Given the description of an element on the screen output the (x, y) to click on. 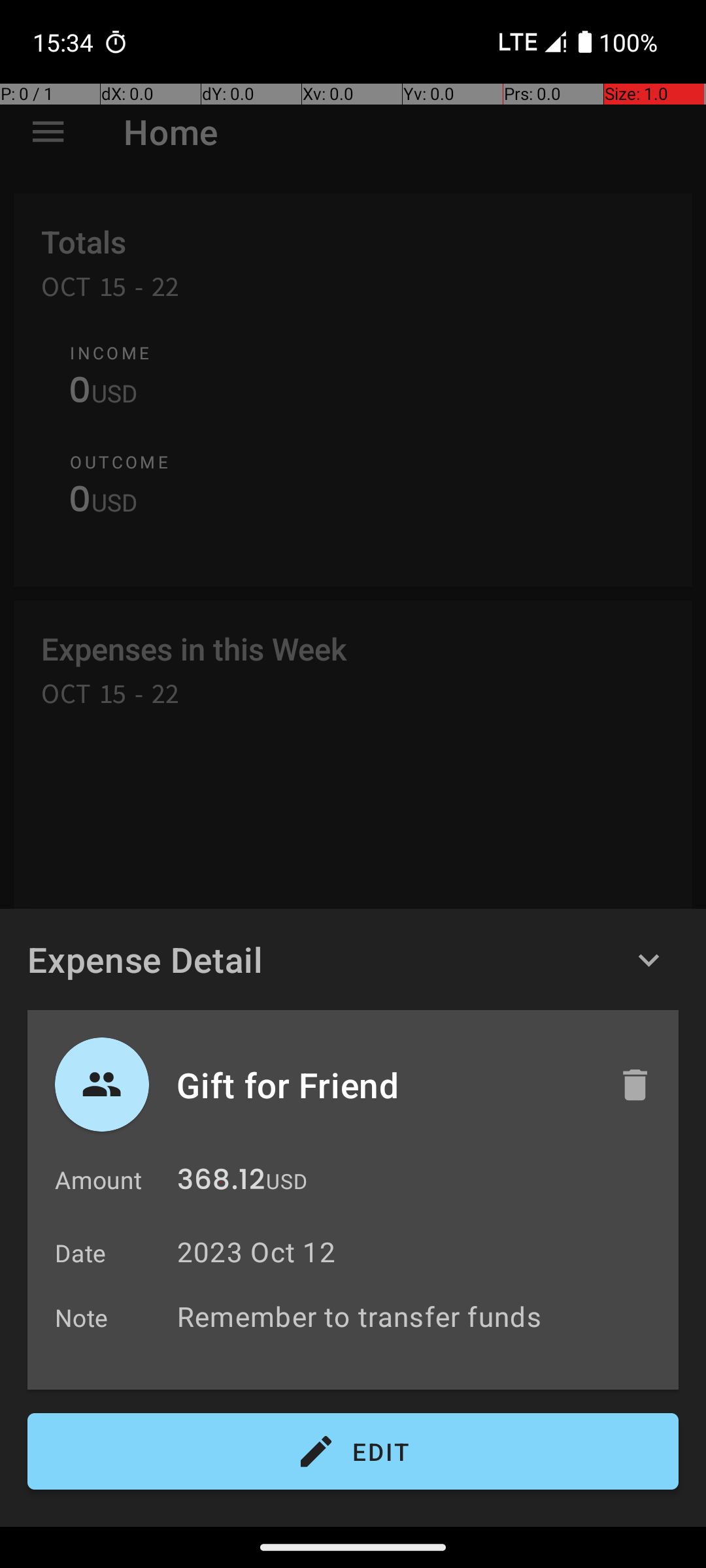
Gift for Friend Element type: android.widget.TextView (383, 1084)
368.12 Element type: android.widget.TextView (220, 1182)
